Given the description of an element on the screen output the (x, y) to click on. 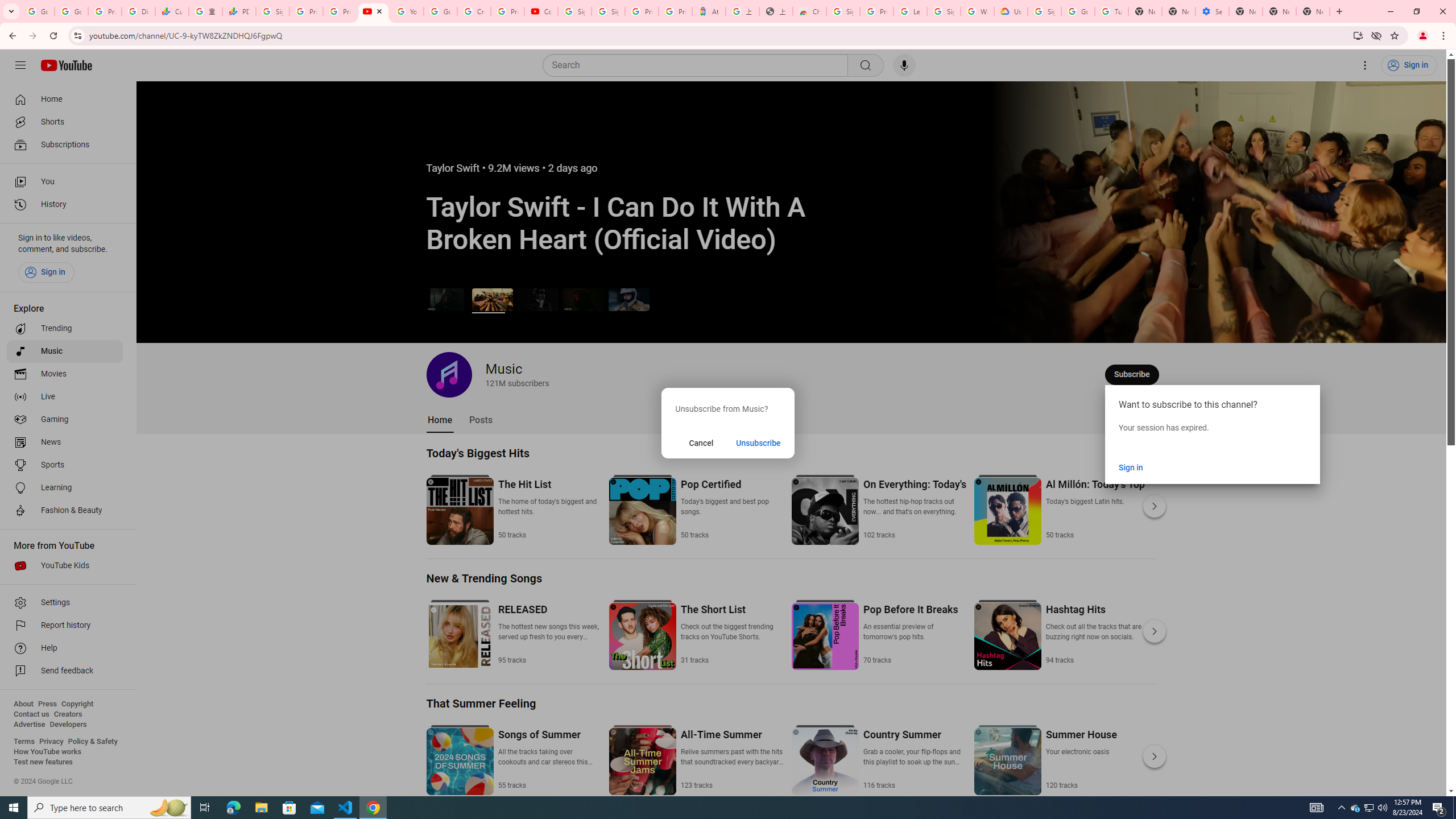
Shorts (64, 121)
A$AP Rocky - HIGHJACK (Official Video) (537, 299)
Copyright (77, 703)
Sign in - Google Accounts (608, 11)
The Music Channel - YouTube (372, 11)
PDD Holdings Inc - ADR (PDD) Price & News - Google Finance (238, 11)
Hozier - Nobody's Soldier (Official Video) (583, 299)
Search with your voice (903, 65)
Sign in - Google Accounts (1043, 11)
